Given the description of an element on the screen output the (x, y) to click on. 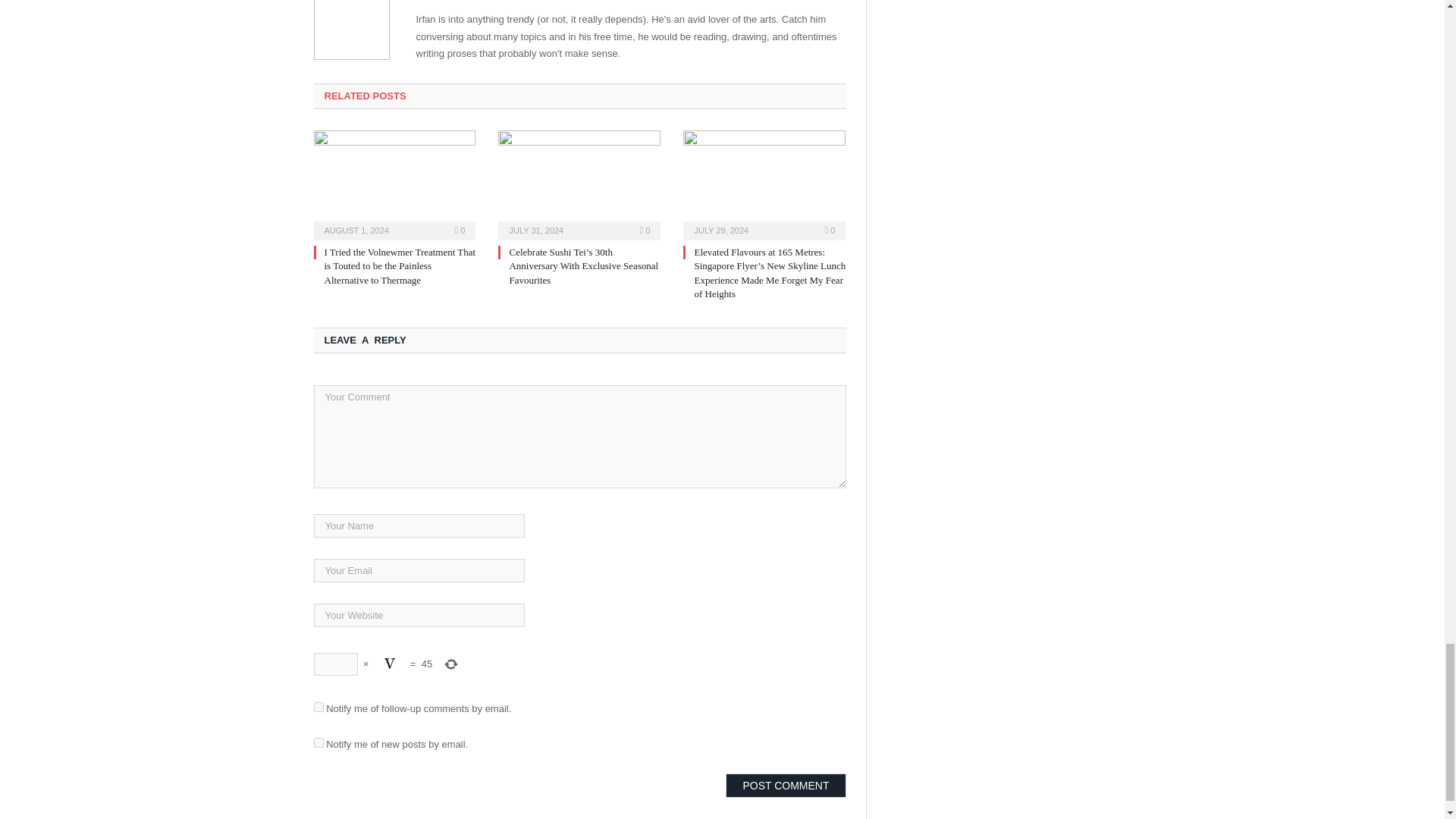
subscribe (318, 706)
subscribe (318, 742)
Post Comment (785, 785)
